Given the description of an element on the screen output the (x, y) to click on. 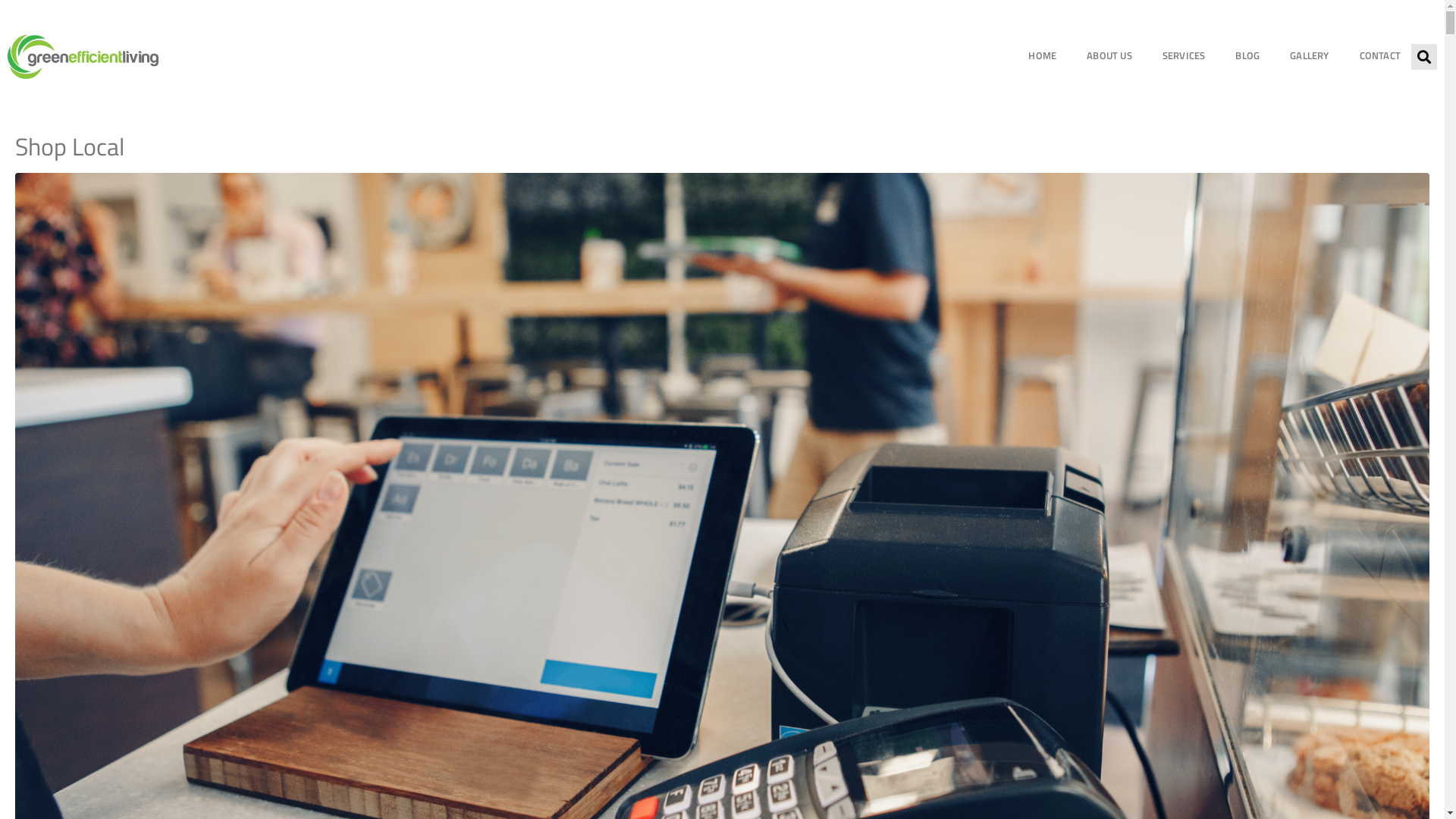
BLOG Element type: text (1247, 56)
CONTACT Element type: text (1380, 56)
Shop Local Element type: hover (722, 570)
HOME Element type: text (1041, 56)
GALLERY Element type: text (1309, 56)
Shop Local Element type: text (69, 146)
SERVICES Element type: text (1183, 56)
ABOUT US Element type: text (1109, 56)
